Given the description of an element on the screen output the (x, y) to click on. 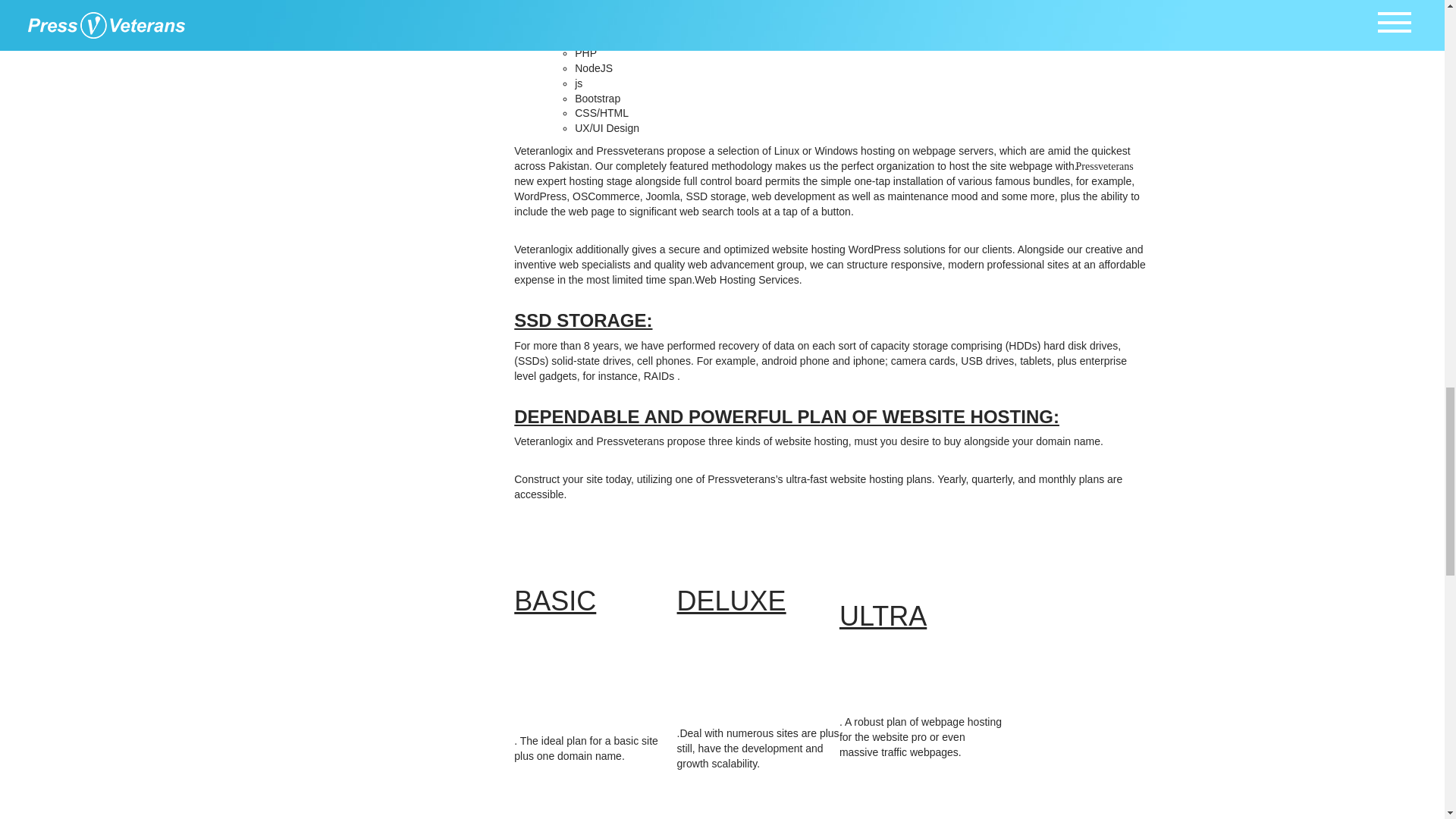
Pressveterans (1104, 165)
